Given the description of an element on the screen output the (x, y) to click on. 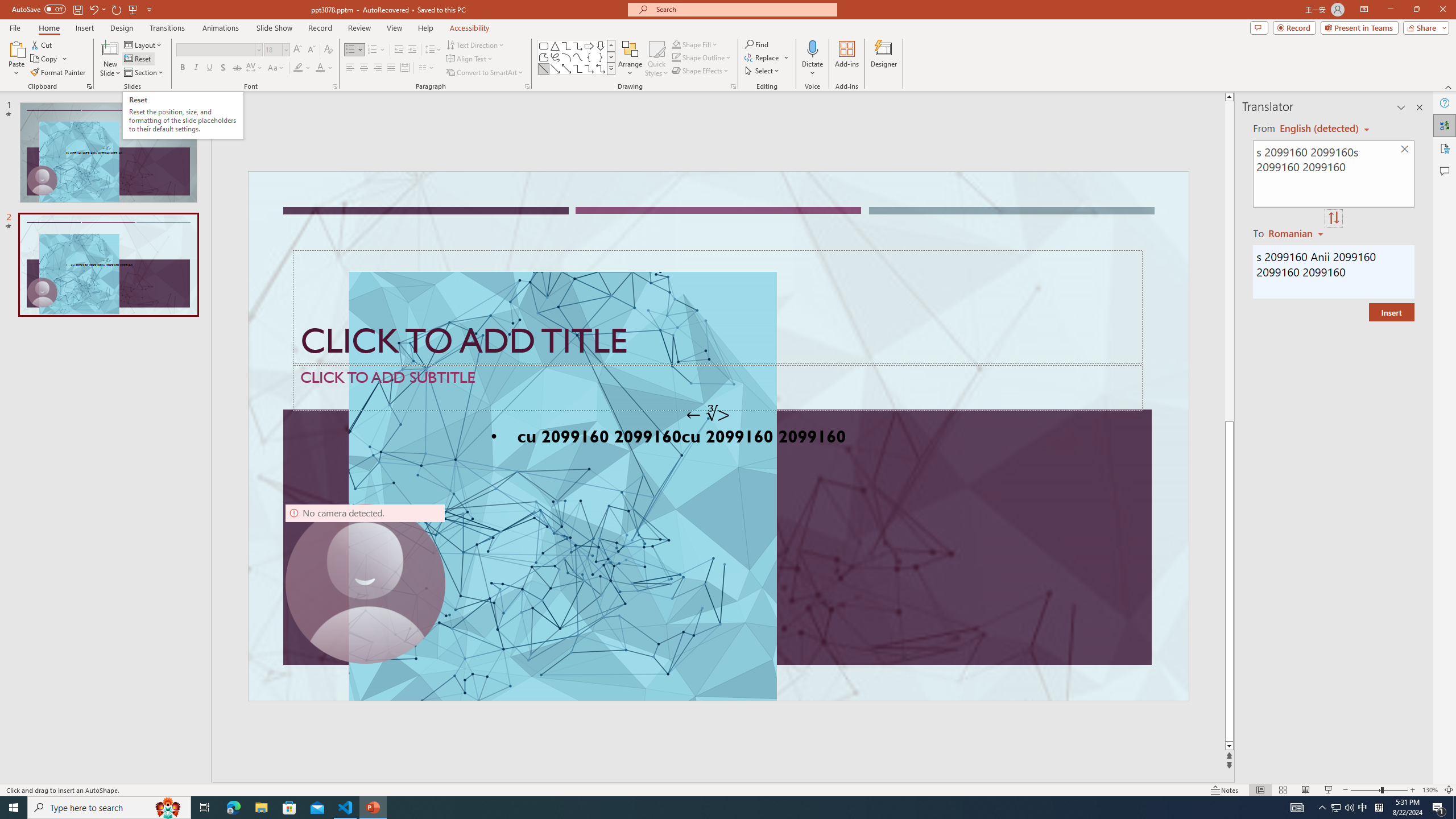
Line up (1245, 96)
Connector: Elbow Double-Arrow (600, 68)
Align Text (470, 58)
Italic (195, 67)
Cut (42, 44)
Paragraph... (526, 85)
Line (543, 68)
Left Brace (589, 57)
Translator (1444, 125)
